Given the description of an element on the screen output the (x, y) to click on. 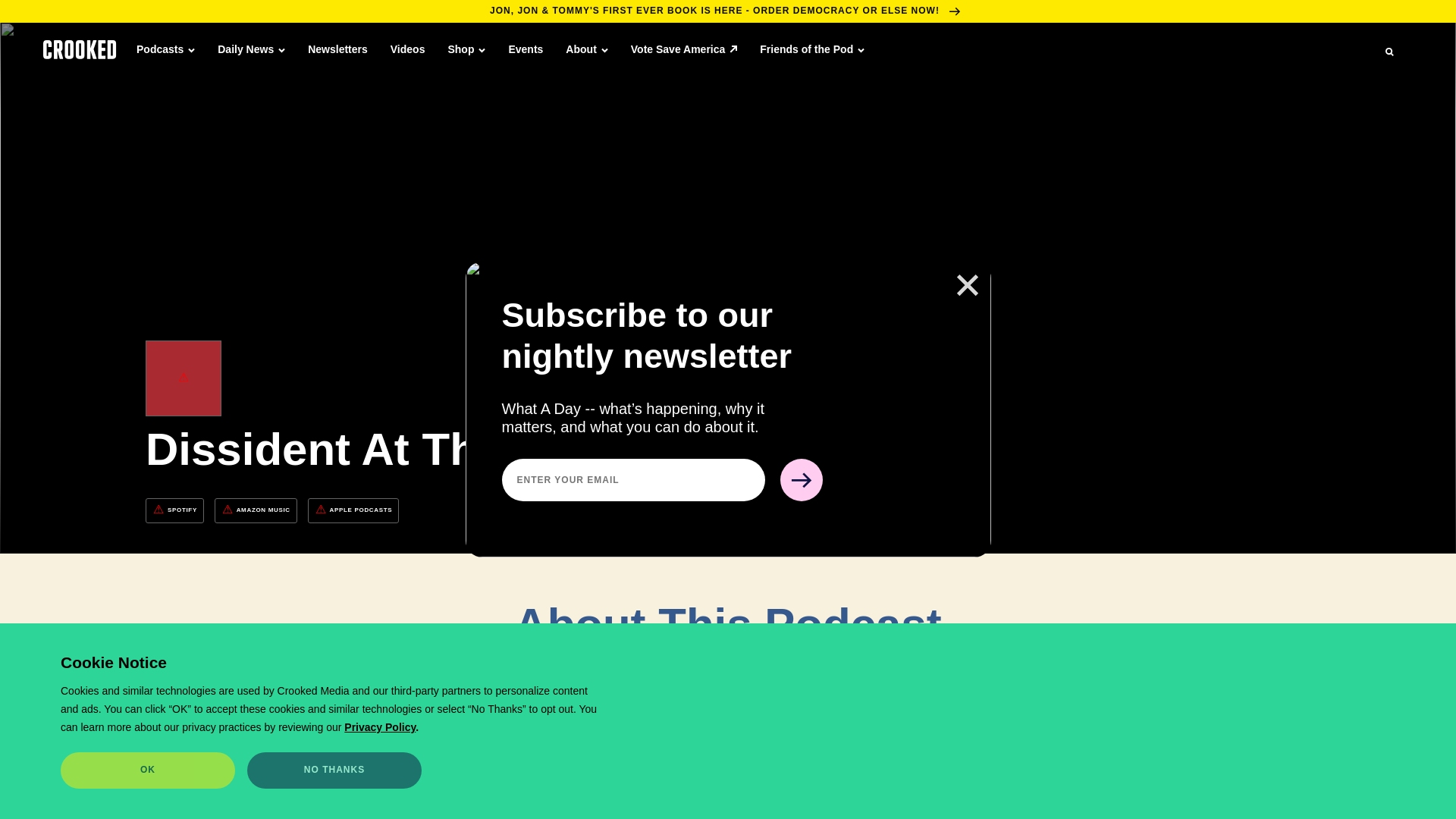
Daily News (250, 48)
Events (525, 48)
Shop (465, 48)
Friends of the Pod (812, 48)
Newsletters (337, 48)
Videos (407, 48)
Vote Save America (684, 48)
About (586, 48)
Podcasts (165, 48)
